Given the description of an element on the screen output the (x, y) to click on. 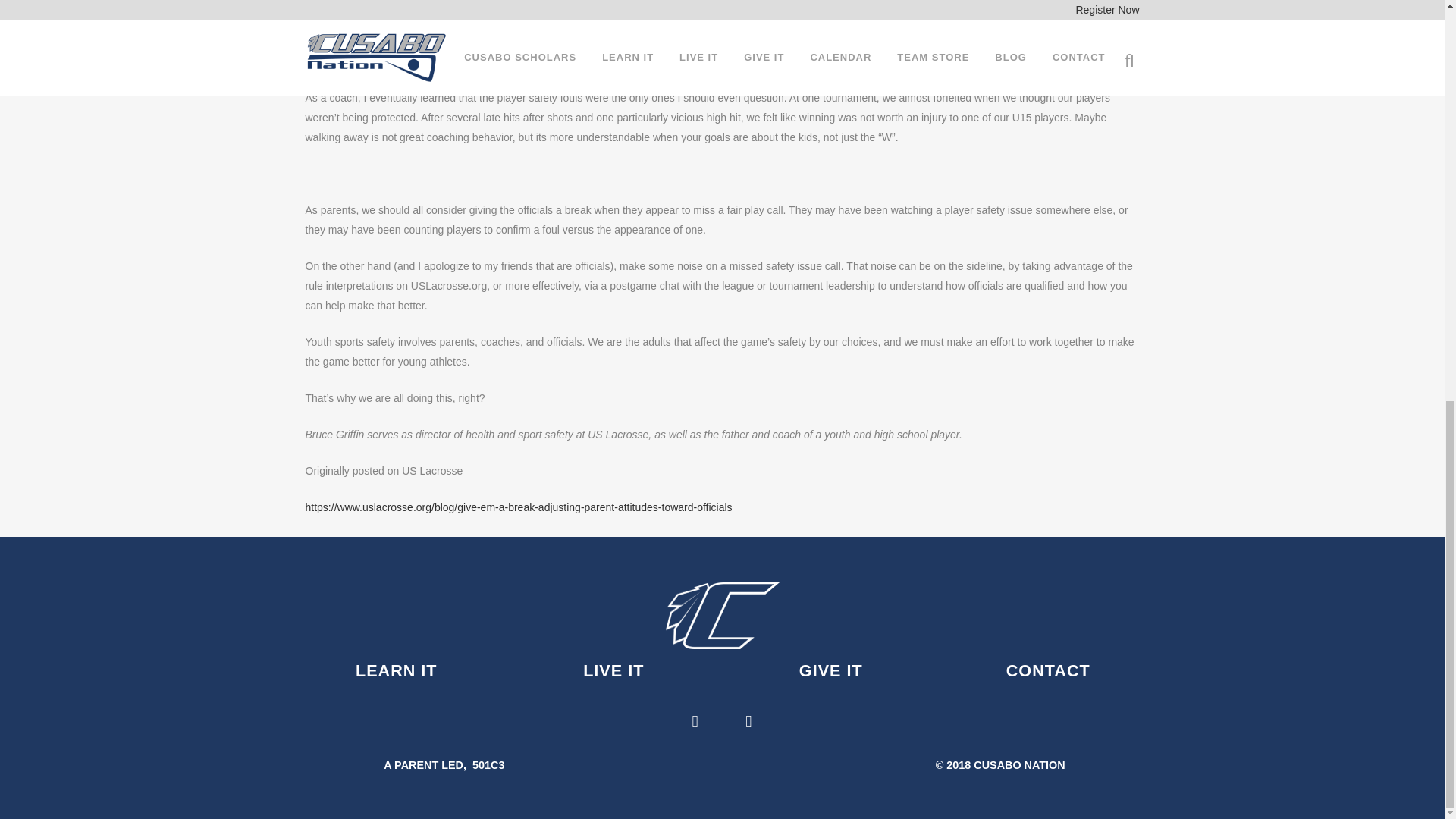
LEARN IT (395, 670)
LIVE IT (613, 670)
GIVE IT (831, 670)
